Given the description of an element on the screen output the (x, y) to click on. 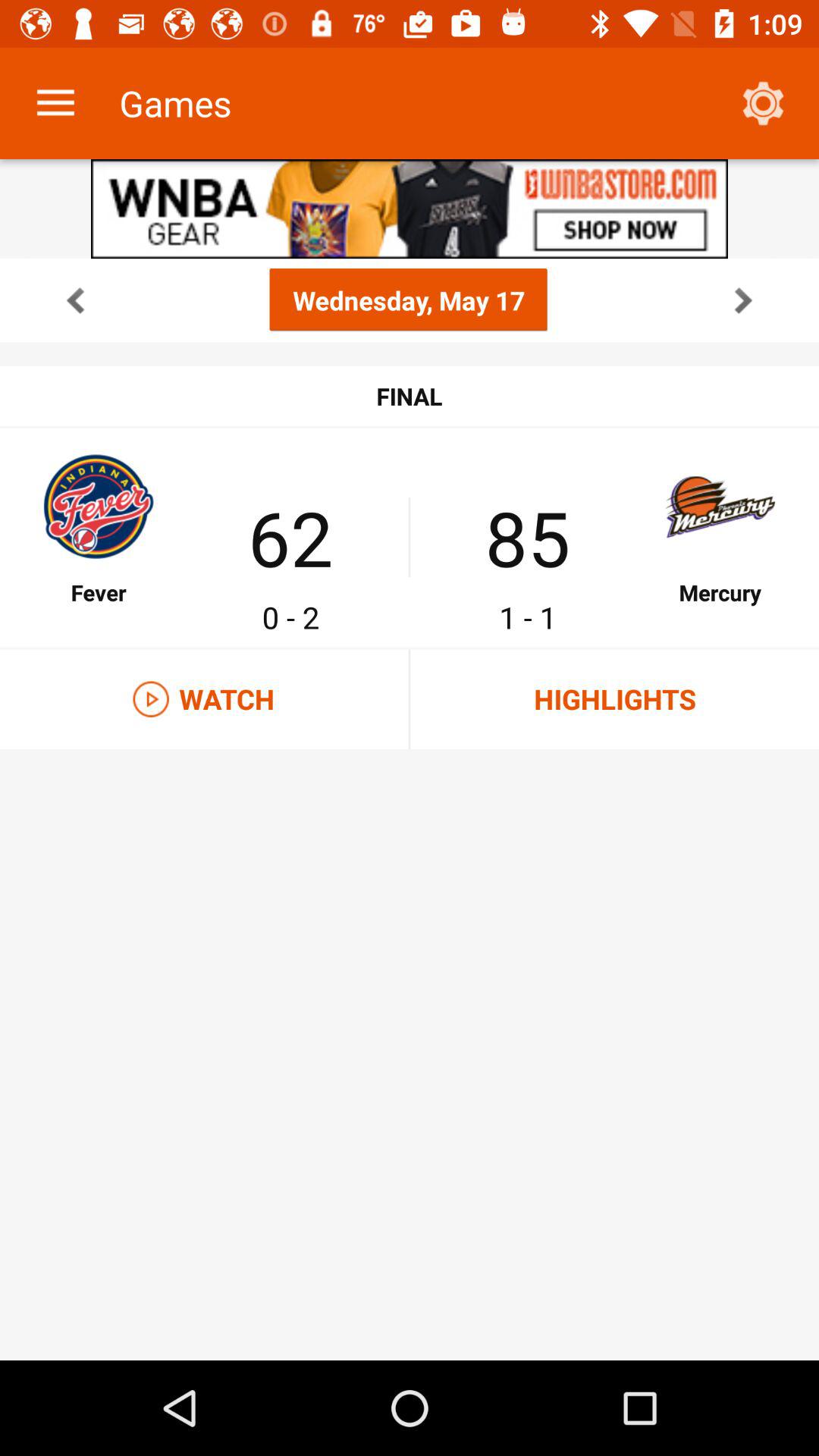
next day (743, 300)
